Given the description of an element on the screen output the (x, y) to click on. 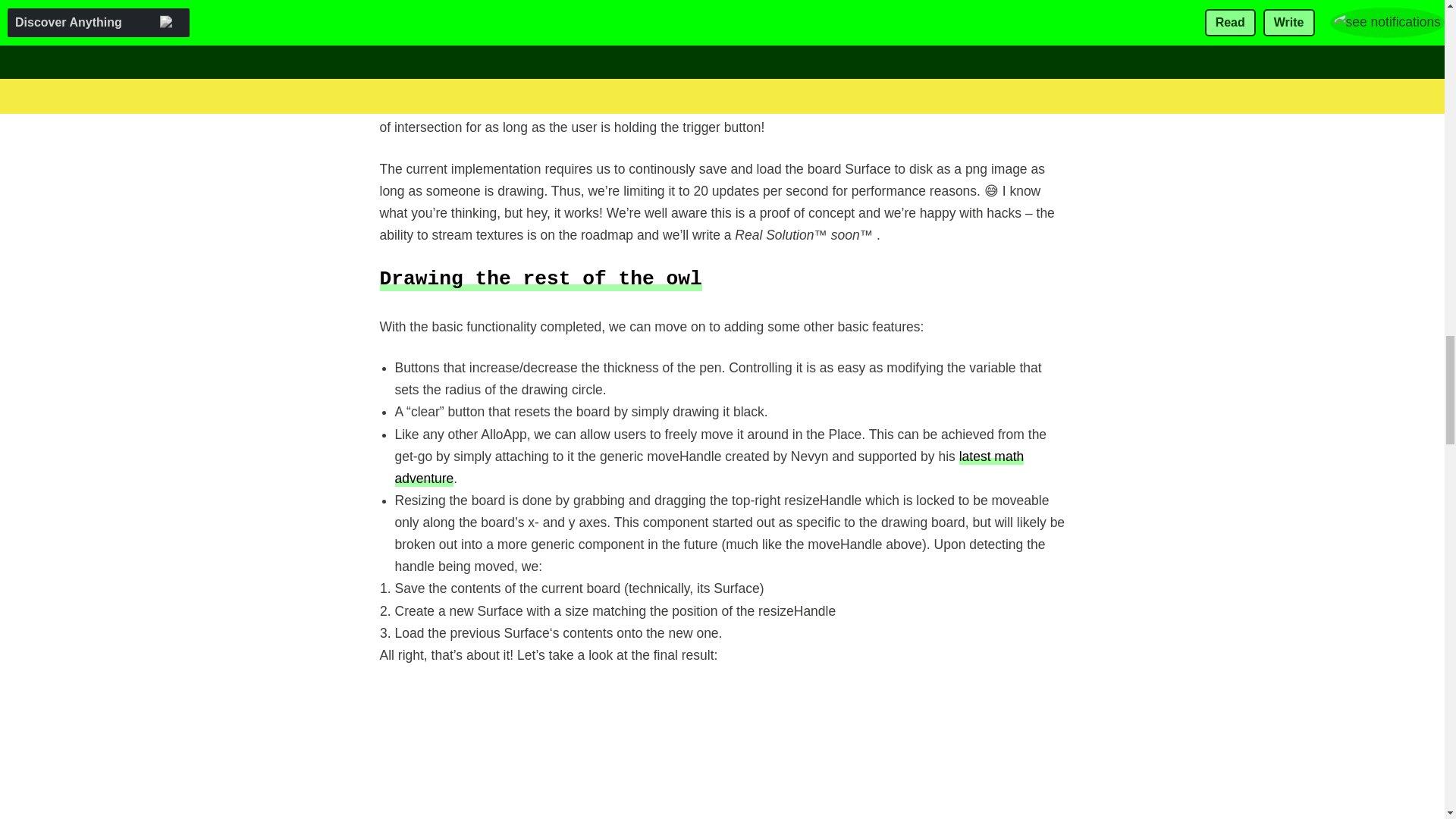
ytcontainer (721, 752)
Drawing the rest of the owl (539, 278)
latest math adventure (708, 466)
